Given the description of an element on the screen output the (x, y) to click on. 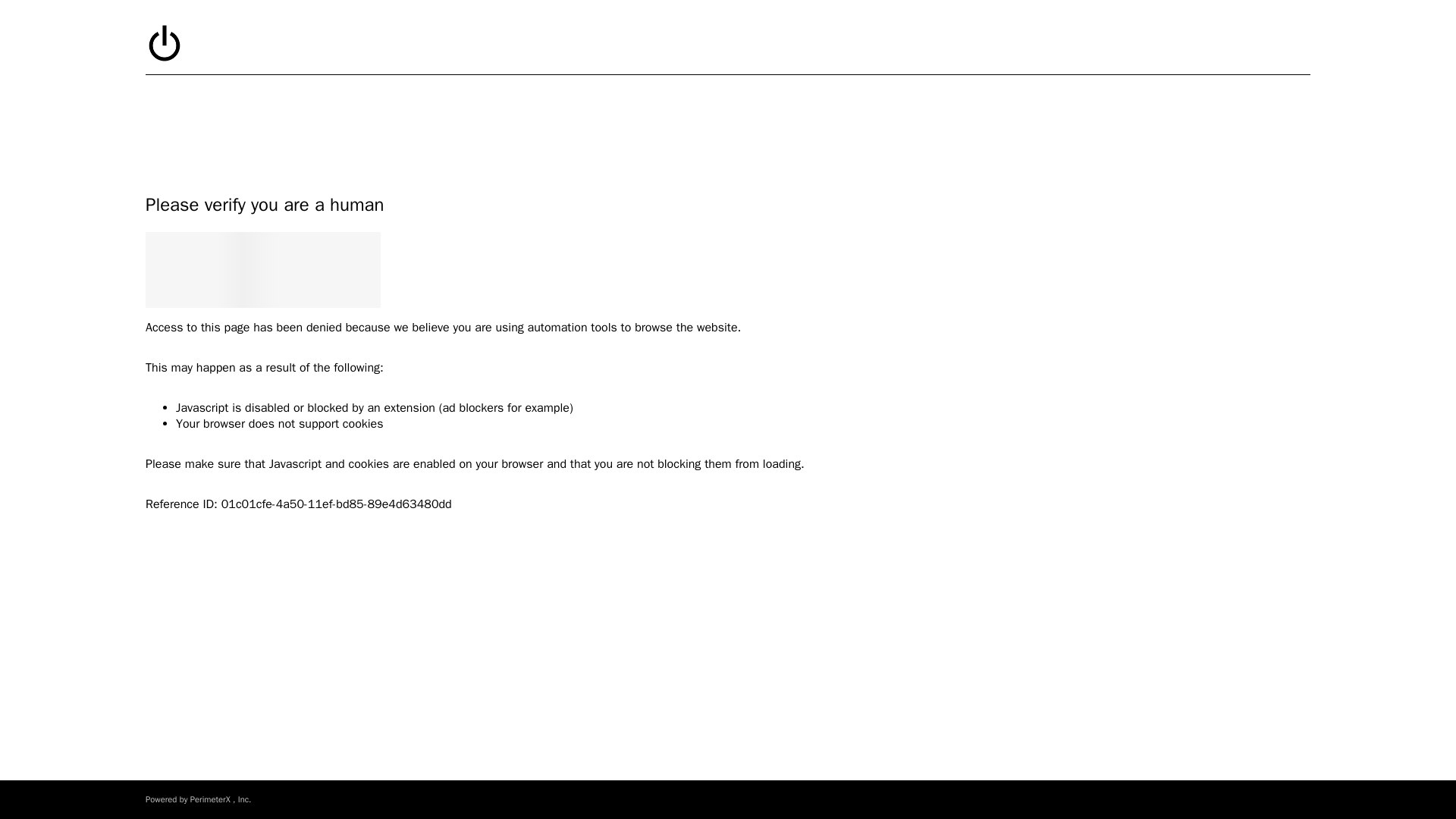
PerimeterX (210, 798)
